Given the description of an element on the screen output the (x, y) to click on. 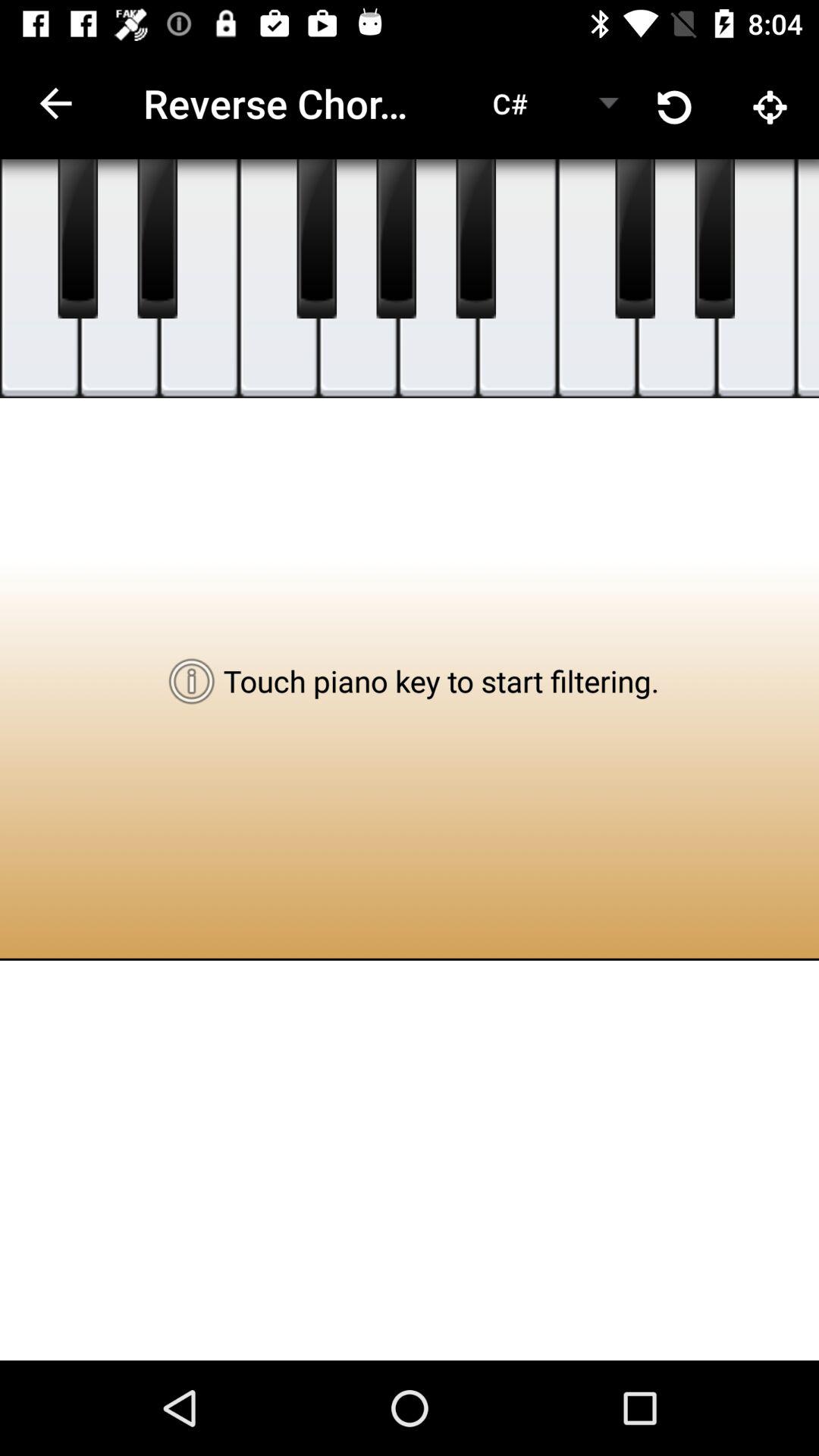
turn on the icon below c# icon (517, 278)
